Given the description of an element on the screen output the (x, y) to click on. 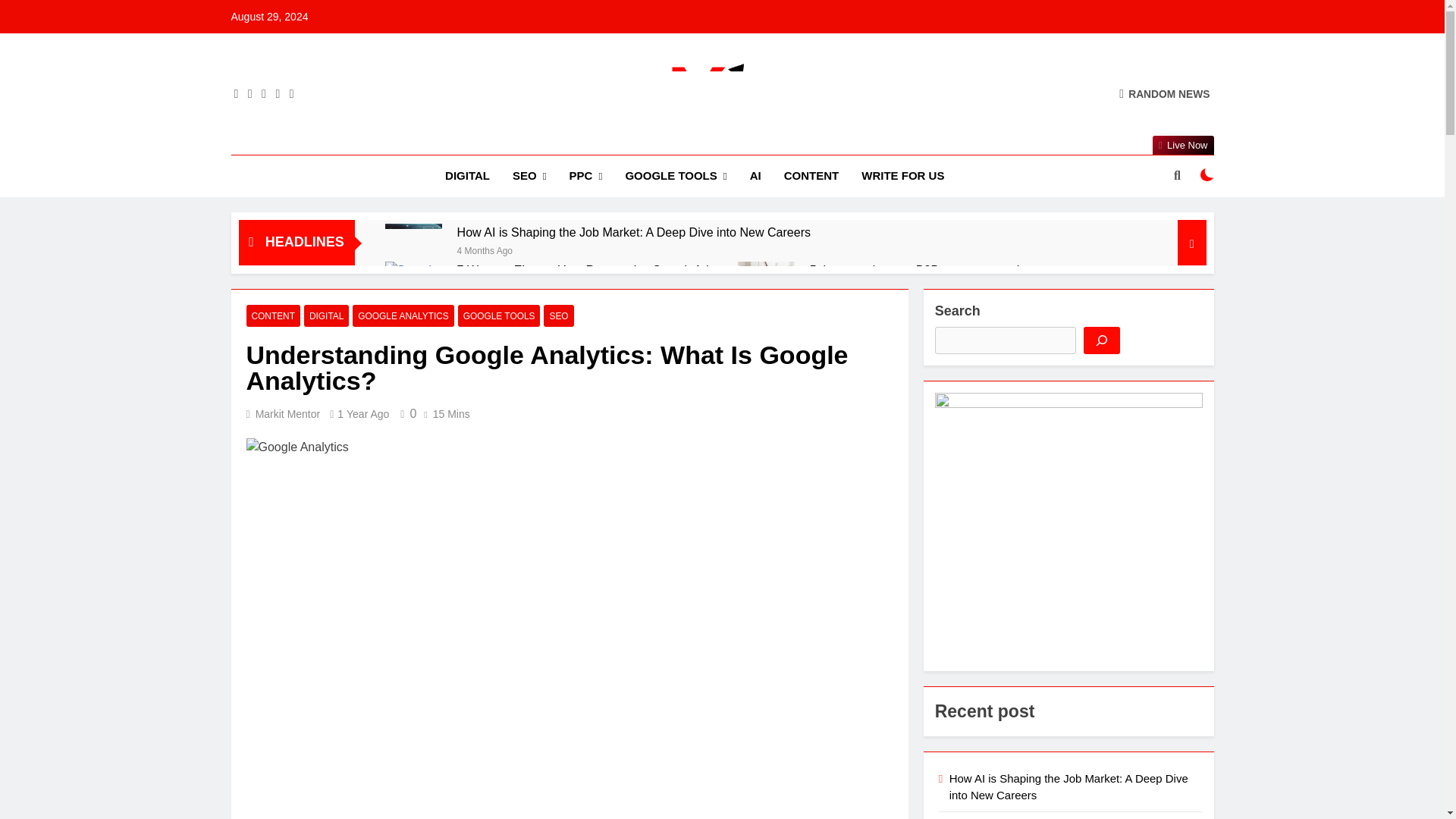
7 Ways to Elevate Your Responsive Search Ads (413, 289)
4 Months Ago (484, 249)
DIGITAL (466, 175)
Markit Mentor: Your Digital Marketing Hub (808, 140)
GOOGLE TOOLS (675, 176)
SEO (528, 176)
PPC (585, 176)
7 Ways to Elevate Your Responsive Search Ads (585, 269)
7 Ways to Elevate Your Responsive Search Ads (585, 269)
